Given the description of an element on the screen output the (x, y) to click on. 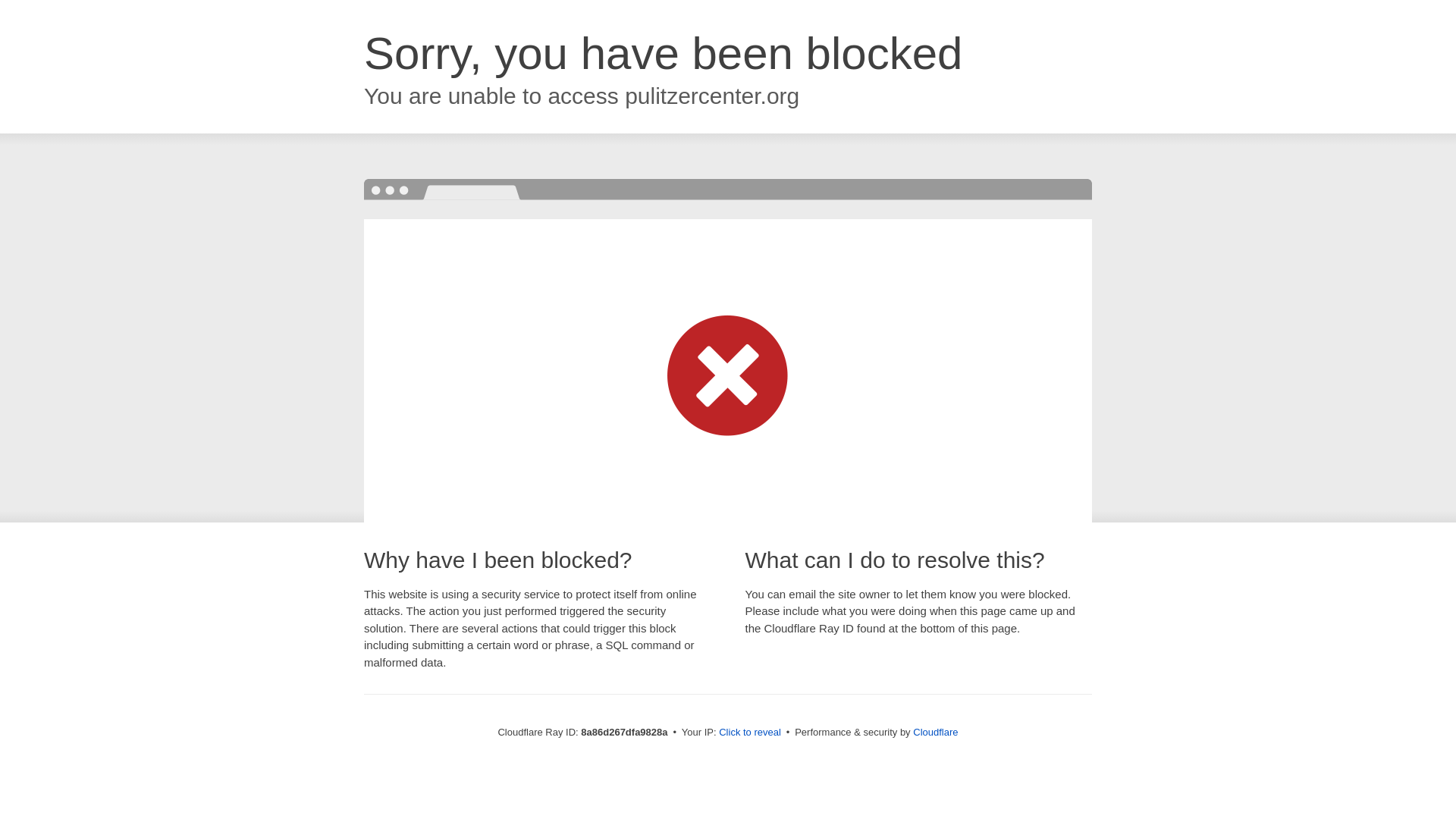
Click to reveal (749, 732)
Cloudflare (935, 731)
